Given the description of an element on the screen output the (x, y) to click on. 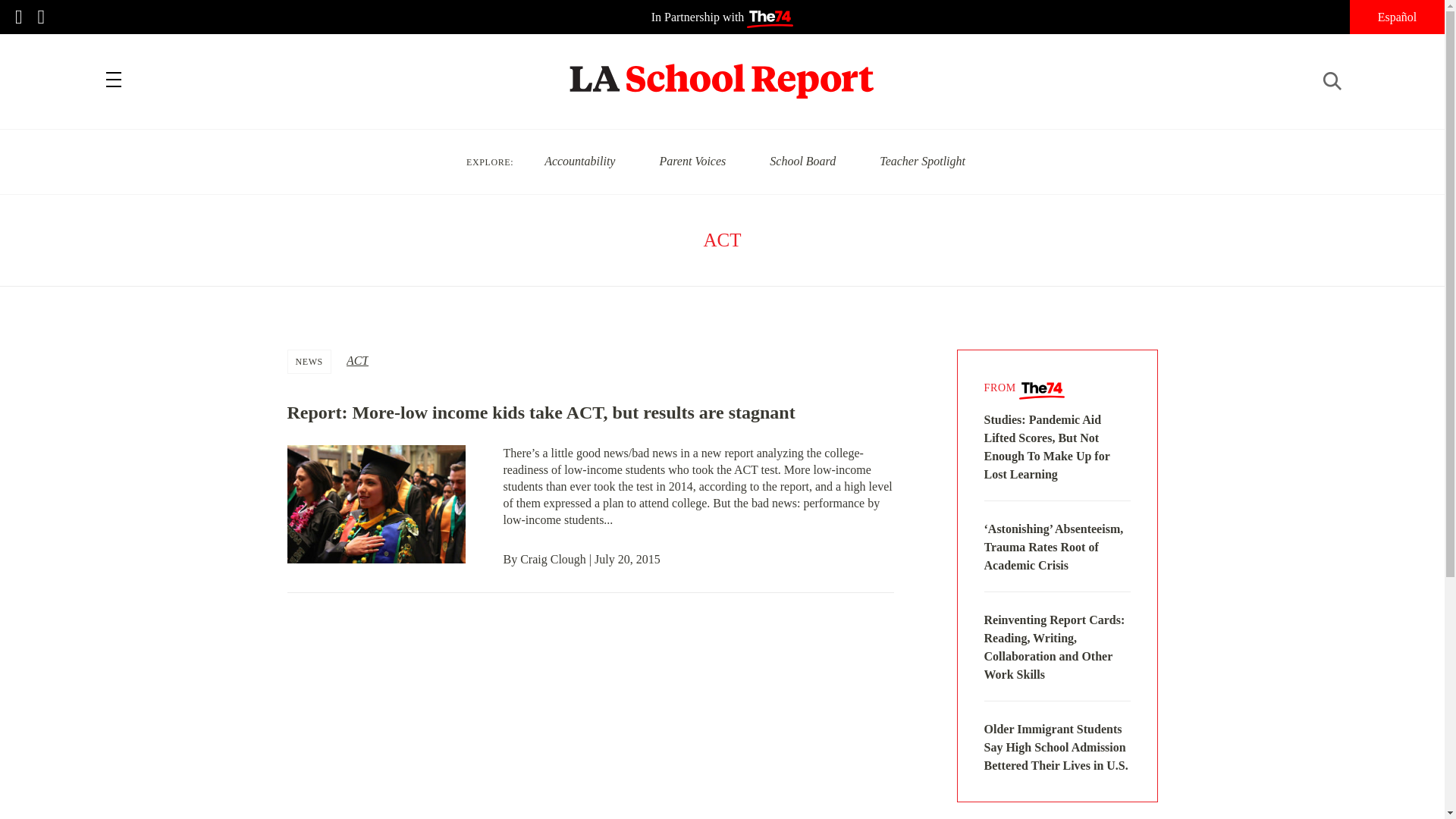
LA School Report (721, 71)
ACT (357, 359)
Teacher Spotlight (922, 160)
By (512, 558)
Parent Voices (692, 160)
NEWS (309, 361)
Craig Clough (552, 558)
